Given the description of an element on the screen output the (x, y) to click on. 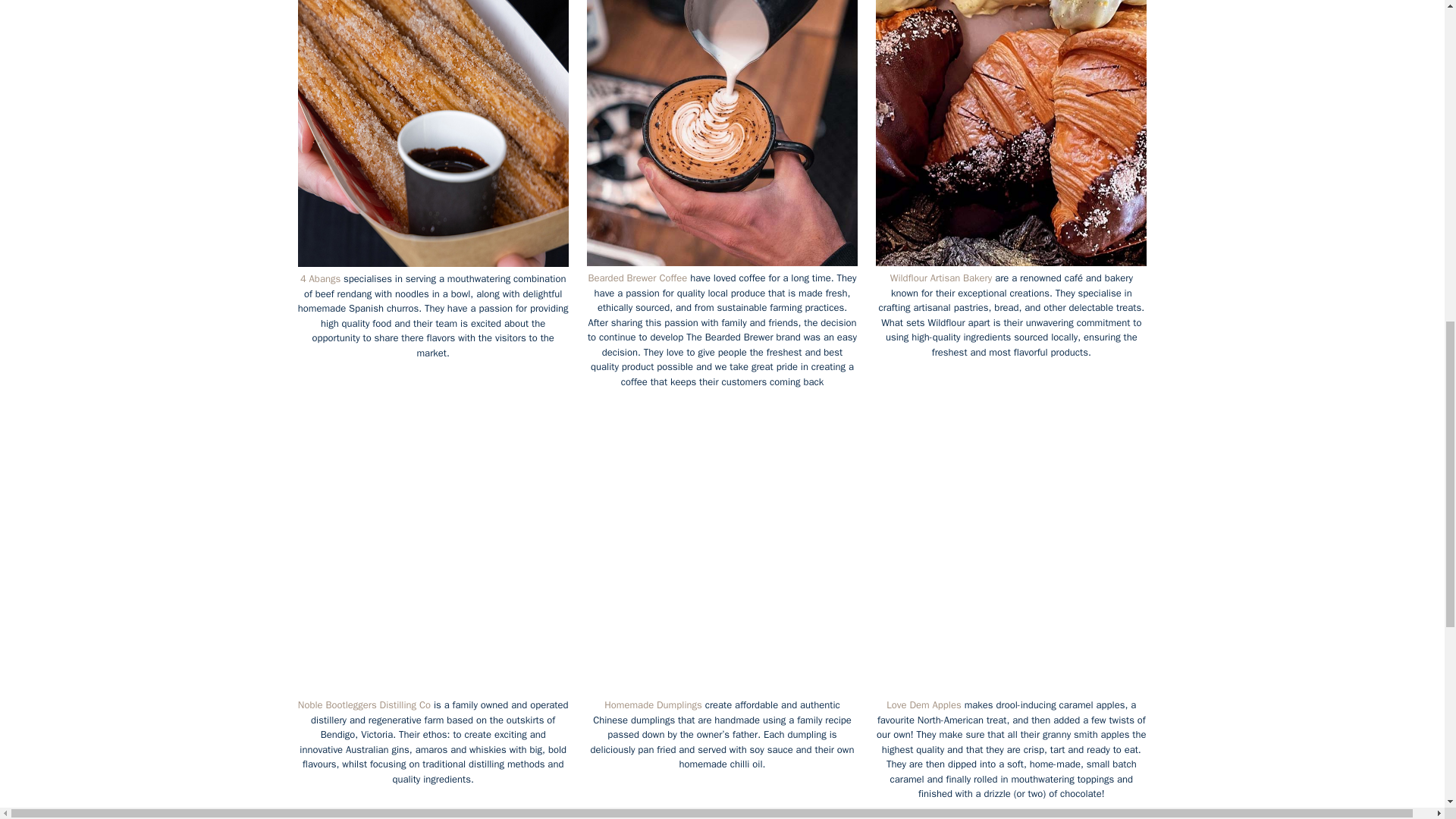
Homemade Dumplings (652, 704)
Wildflour Artisan Bakery (940, 277)
Bearded Brewer Coffee (637, 277)
Scroll back to top (1406, 708)
Noble Bootleggers Distilling Co (364, 704)
Love Dem Apples (923, 704)
4 Abangs (319, 278)
